Given the description of an element on the screen output the (x, y) to click on. 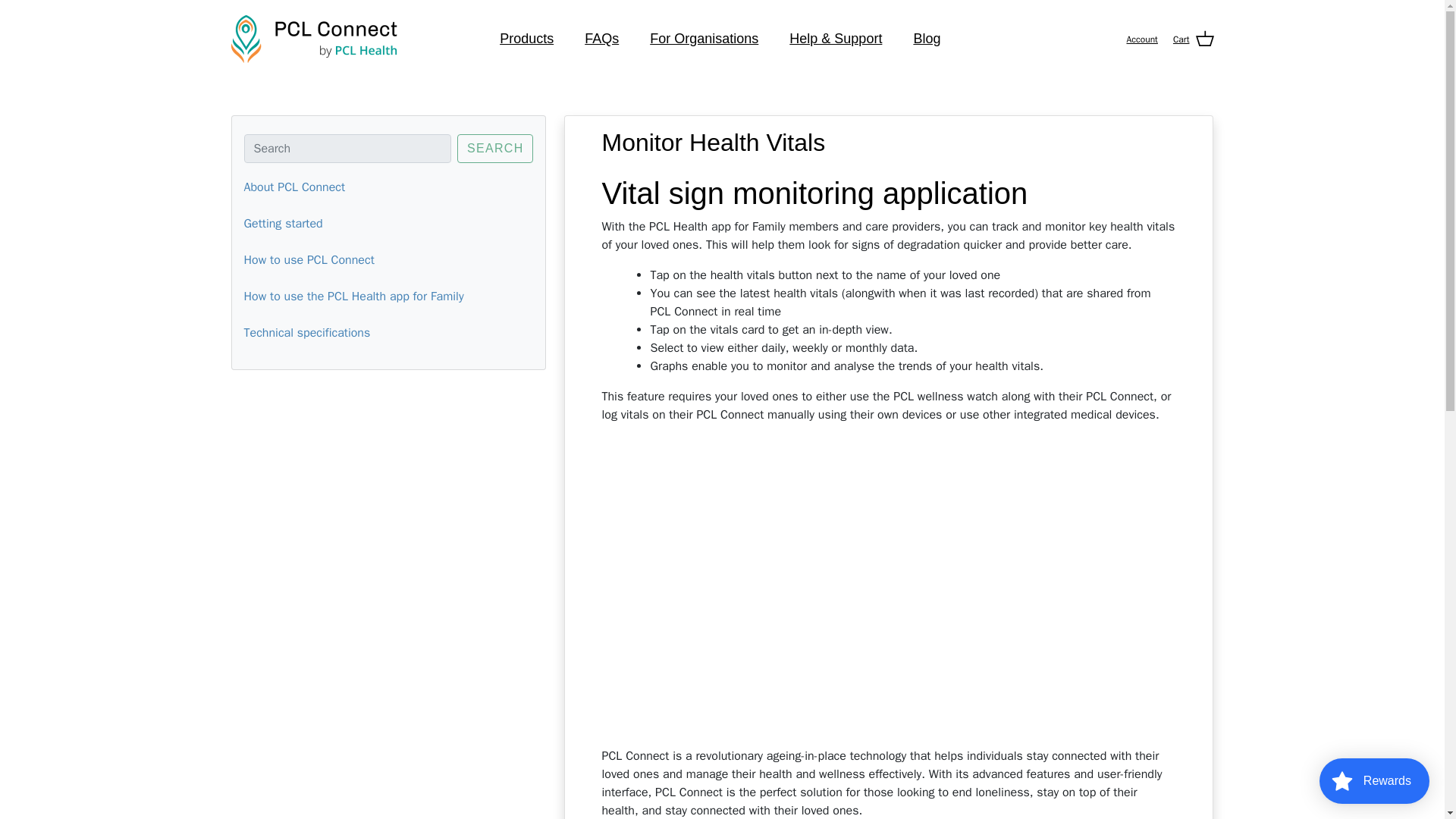
How to use the PCL Health app for Family (354, 296)
How to use PCL Connect (309, 259)
Cart (1193, 38)
Technical specifications (307, 332)
FAQs (600, 39)
PCL Connect (313, 39)
Account (1141, 38)
Blog (926, 39)
About PCL Connect (295, 186)
